Given the description of an element on the screen output the (x, y) to click on. 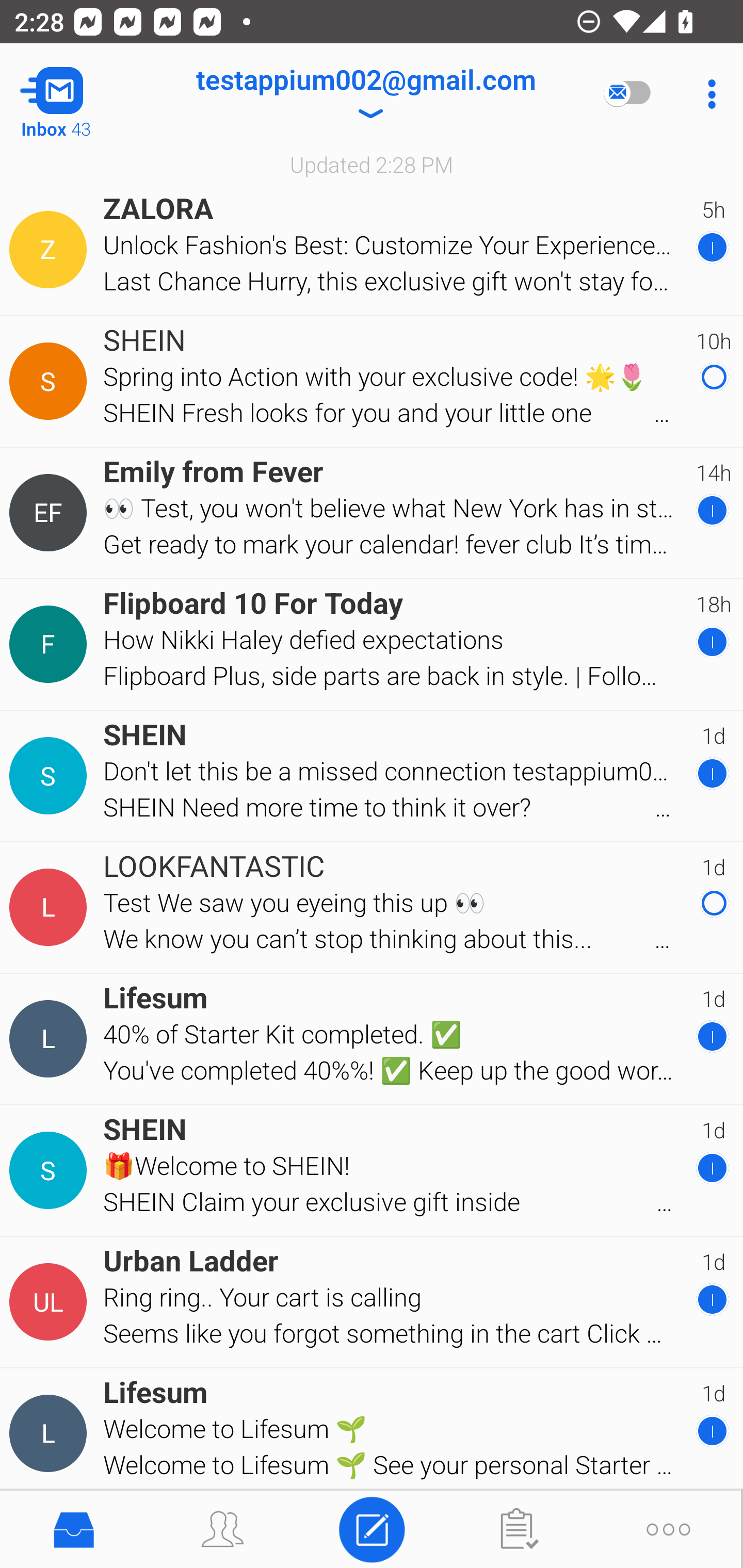
Navigate up (81, 93)
testappium002@gmail.com (365, 93)
More Options (706, 93)
Updated 2:28 PM (371, 164)
Contact Details (50, 250)
Contact Details (50, 381)
Contact Details (50, 513)
Contact Details (50, 644)
Contact Details (50, 776)
Contact Details (50, 907)
Contact Details (50, 1038)
Contact Details (50, 1170)
Contact Details (50, 1302)
Contact Details (50, 1433)
